Given the description of an element on the screen output the (x, y) to click on. 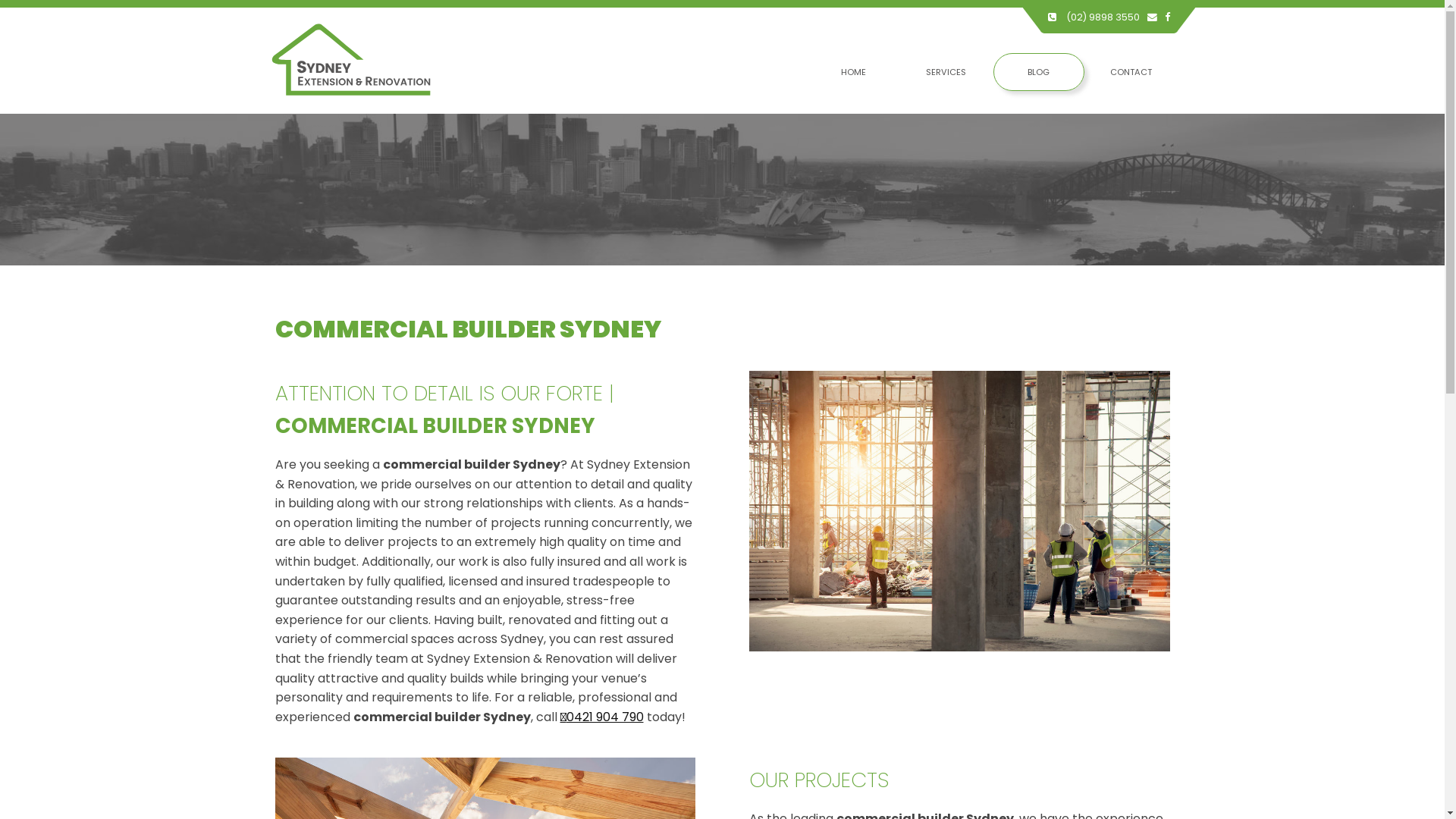
SERVICES Element type: text (945, 72)
CONTACT Element type: text (1130, 72)
0421 904 790 Element type: text (601, 716)
BLOG Element type: text (1038, 72)
HOME Element type: text (853, 72)
